Given the description of an element on the screen output the (x, y) to click on. 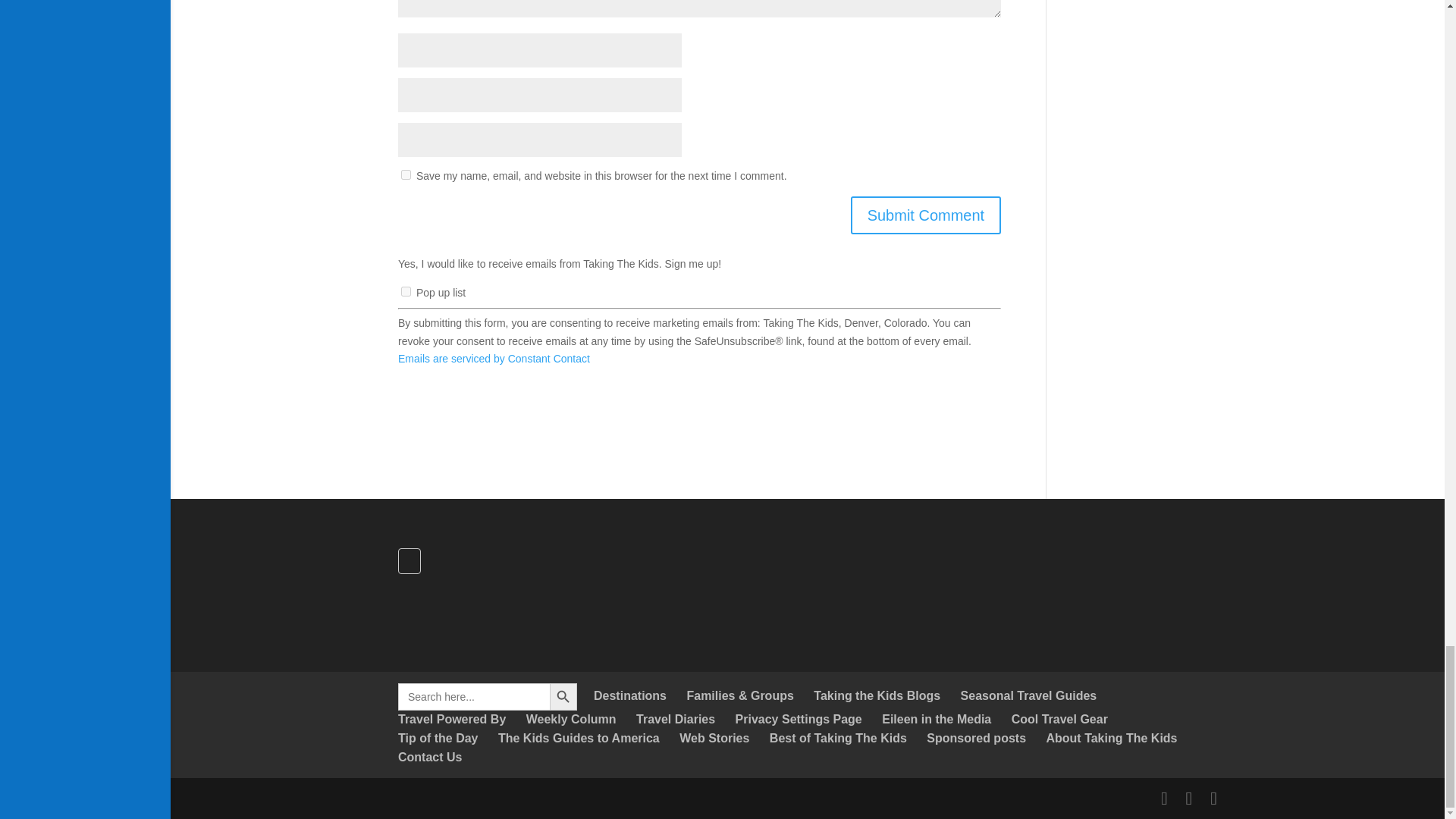
Submit Comment (925, 215)
yes (405, 174)
679276e2-a18b-11ec-9047-fa163ea6032f (405, 291)
